Given the description of an element on the screen output the (x, y) to click on. 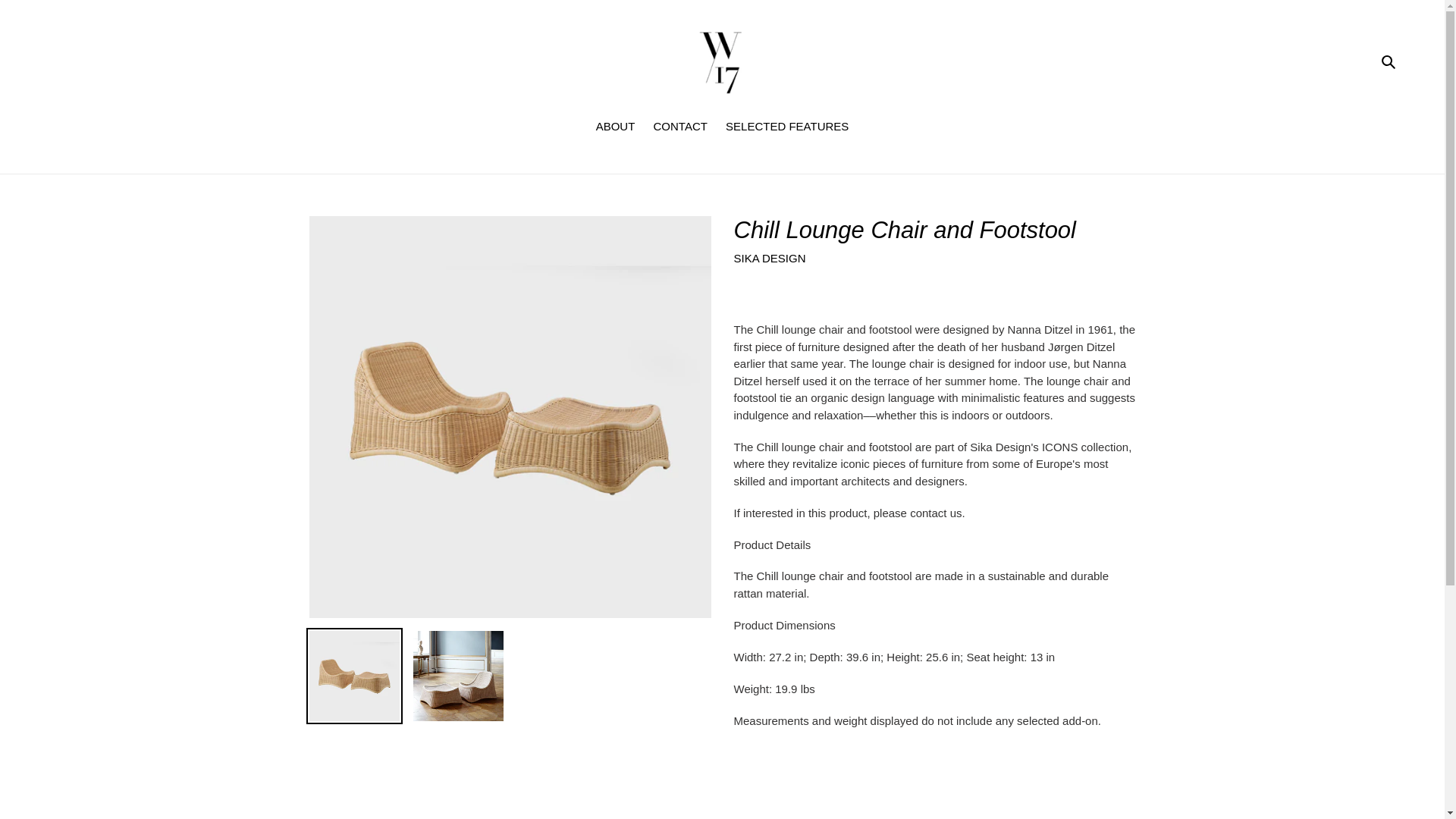
SIKA DESIGN (769, 257)
CONTACT (680, 127)
Sika Design (769, 257)
ABOUT (615, 127)
SELECTED FEATURES (786, 127)
Search (1389, 60)
